Given the description of an element on the screen output the (x, y) to click on. 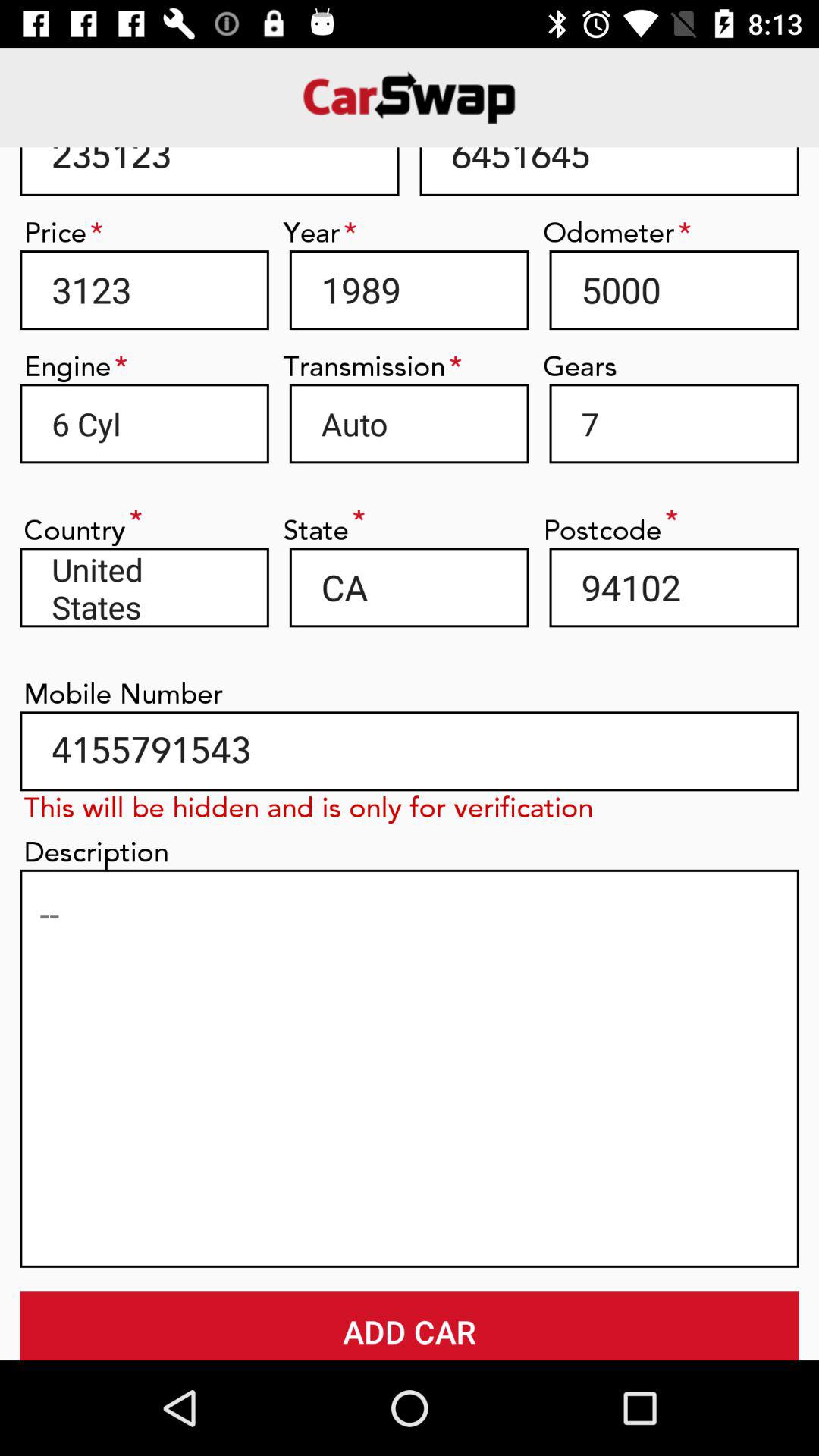
click the item next to the united states (408, 587)
